Given the description of an element on the screen output the (x, y) to click on. 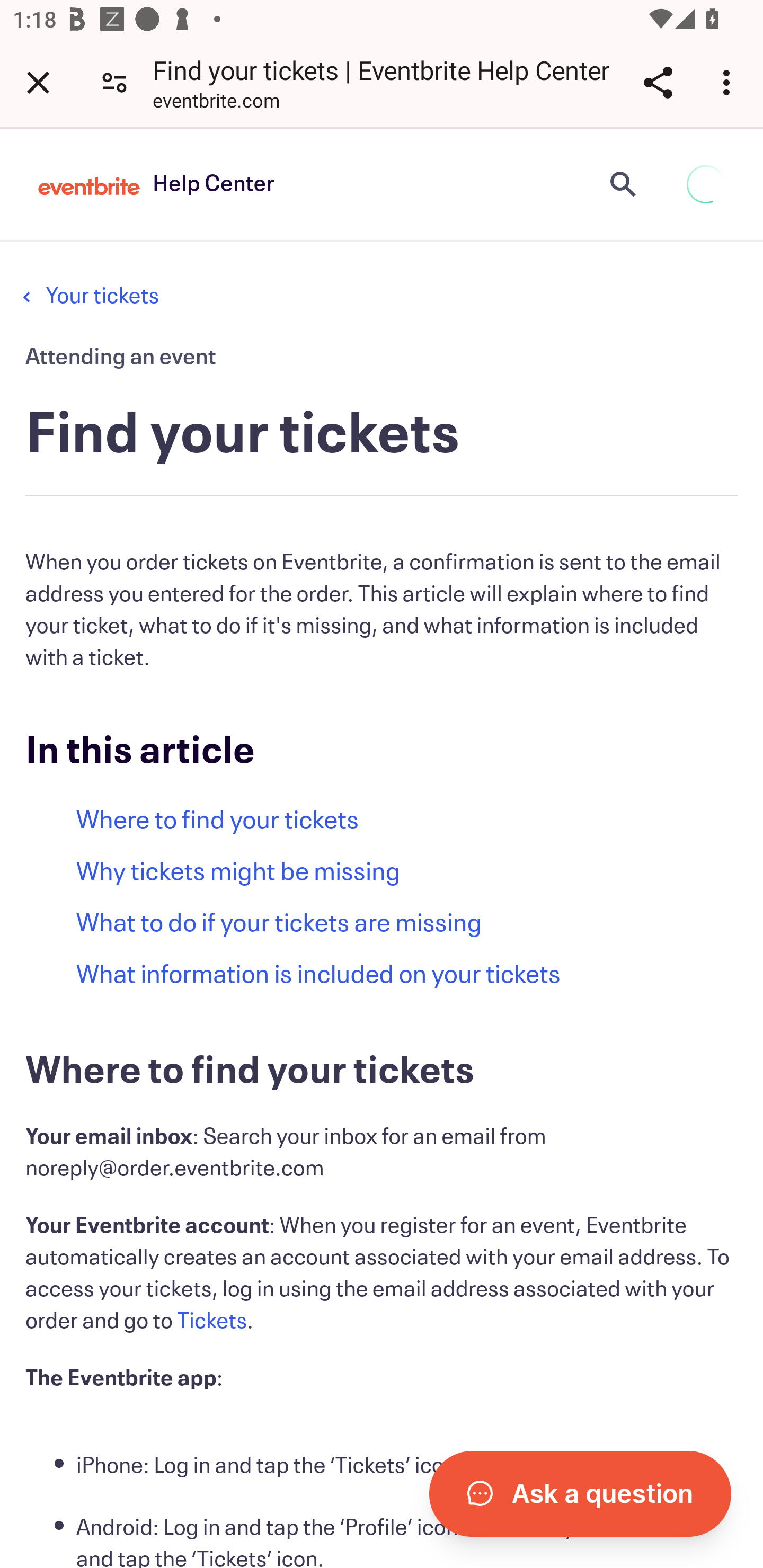
Close tab (38, 82)
Share (657, 82)
Customize and control Google Chrome (729, 82)
Connection is secure (114, 81)
eventbrite.com (216, 103)
Eventbrite Help Center Eventbrite logo Help Center (156, 184)
Your tickets (102, 295)
Tickets (211, 1321)
Open Chatbot (579, 1493)
